Given the description of an element on the screen output the (x, y) to click on. 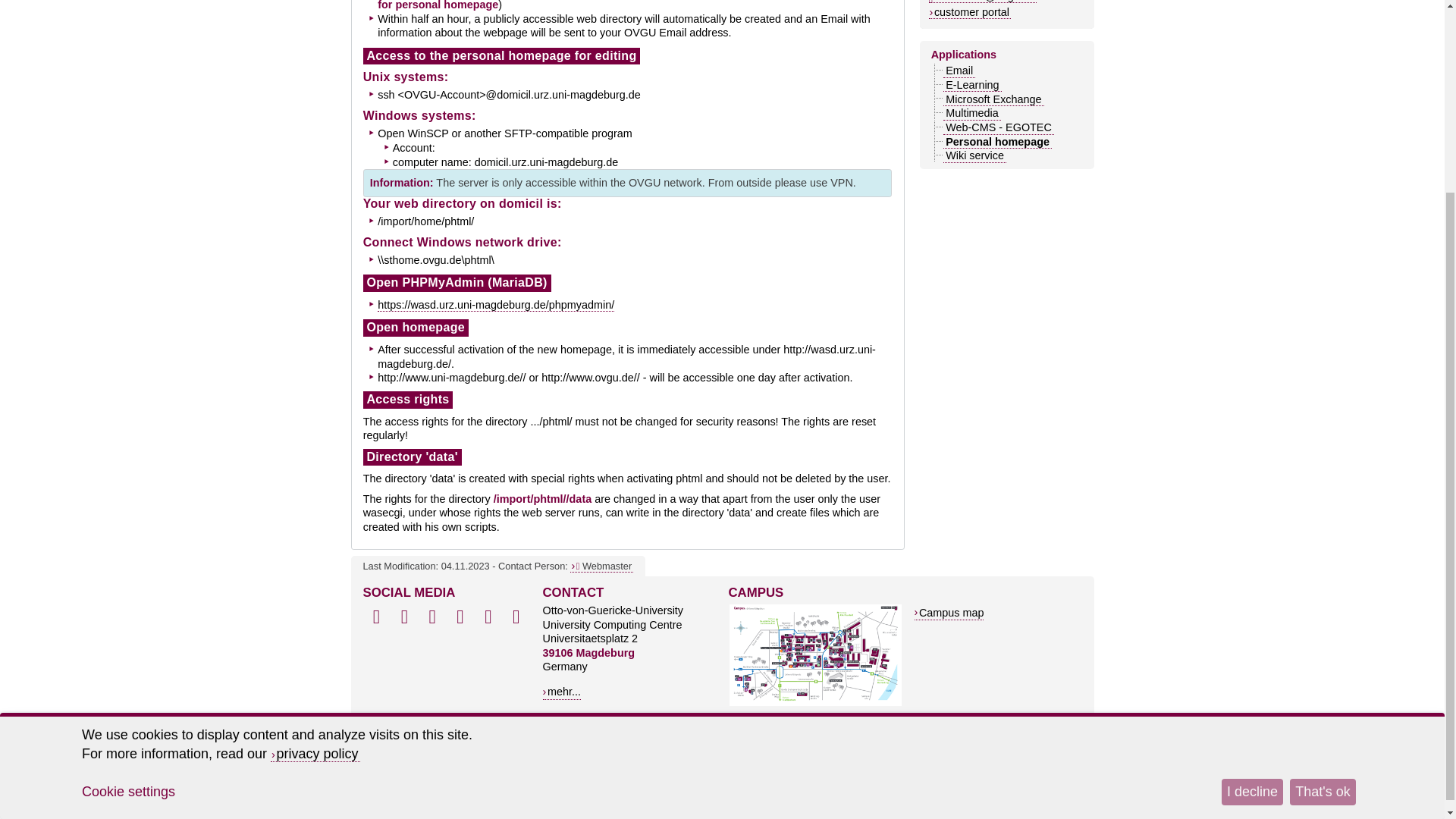
LinkedIn (432, 616)
Contact us (601, 565)
Facebook (376, 616)
